Given the description of an element on the screen output the (x, y) to click on. 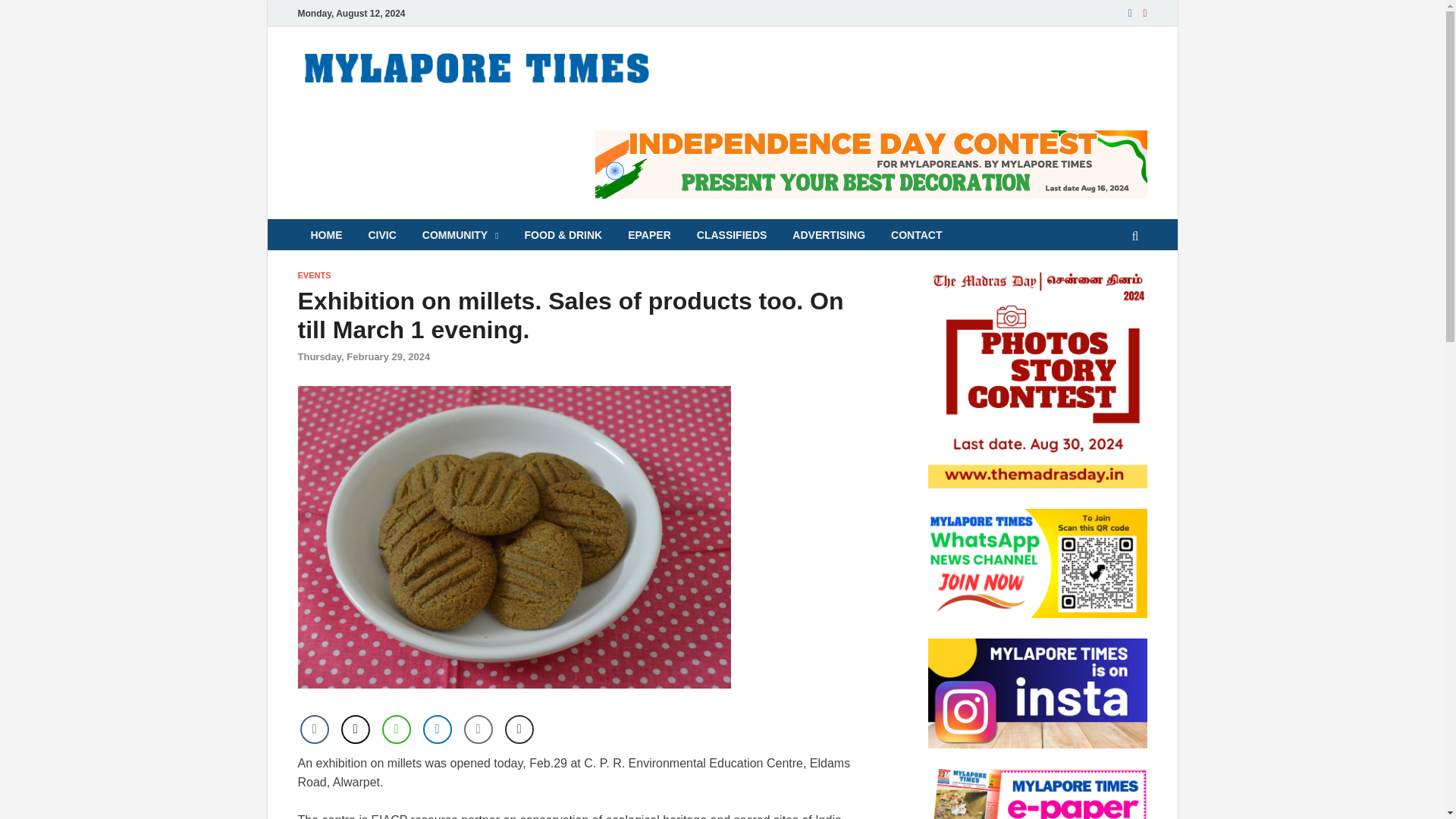
CLASSIFIEDS (732, 234)
Thursday, February 29, 2024 (363, 356)
EVENTS (313, 275)
ADVERTISING (827, 234)
CONTACT (916, 234)
EPAPER (649, 234)
COMMUNITY (460, 234)
MYLAPORE TIMES (788, 78)
HOME (326, 234)
CIVIC (382, 234)
